Given the description of an element on the screen output the (x, y) to click on. 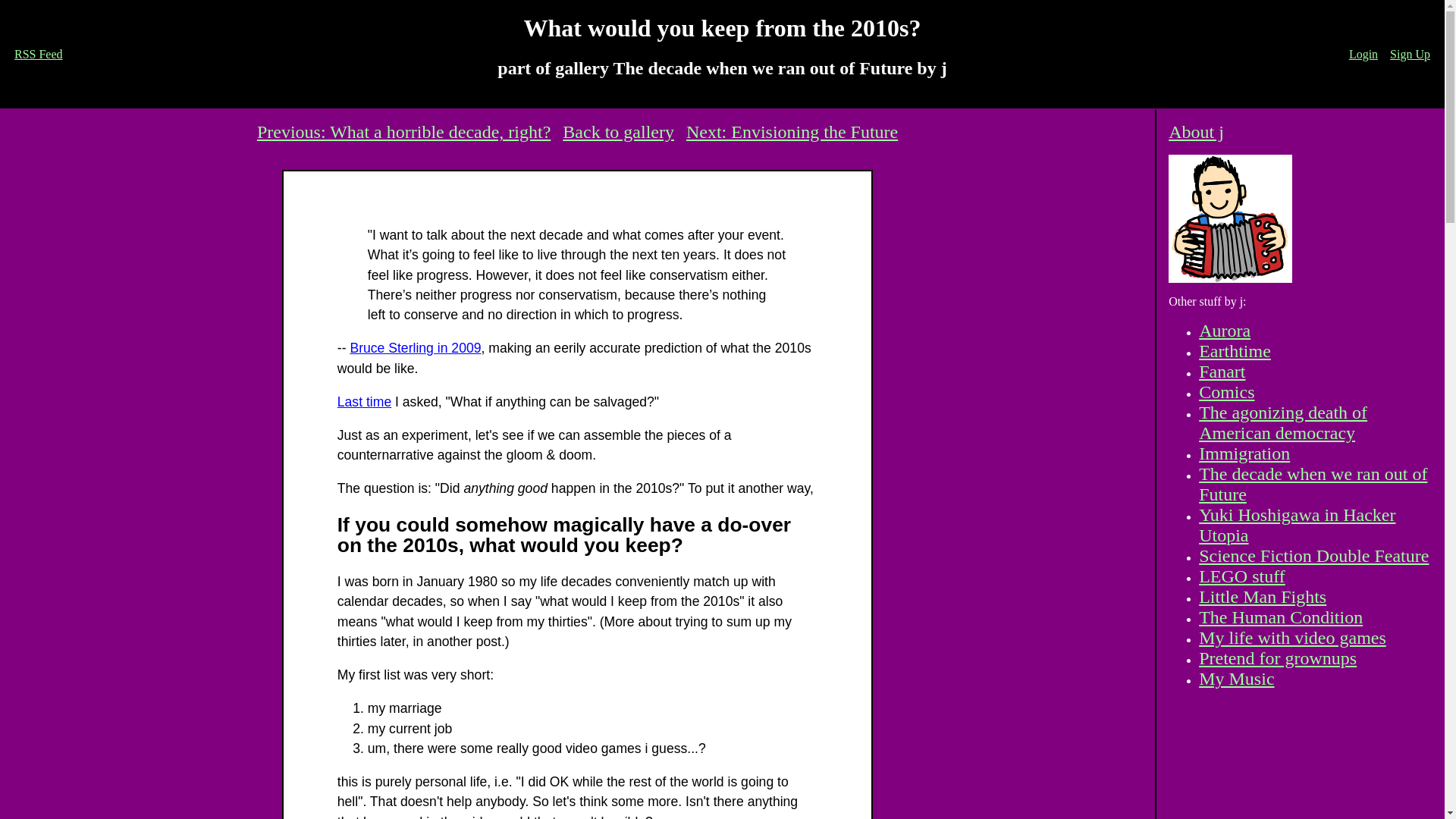
LEGO stuff (1241, 576)
Previous: What a horrible decade, right? (403, 131)
Immigration (1244, 453)
Login (1363, 53)
Sign Up (1409, 53)
My life with video games (1292, 637)
The decade when we ran out of Future (1312, 484)
Yuki Hoshigawa in Hacker Utopia (1296, 525)
RSS Feed (38, 53)
About j (1196, 131)
